Given the description of an element on the screen output the (x, y) to click on. 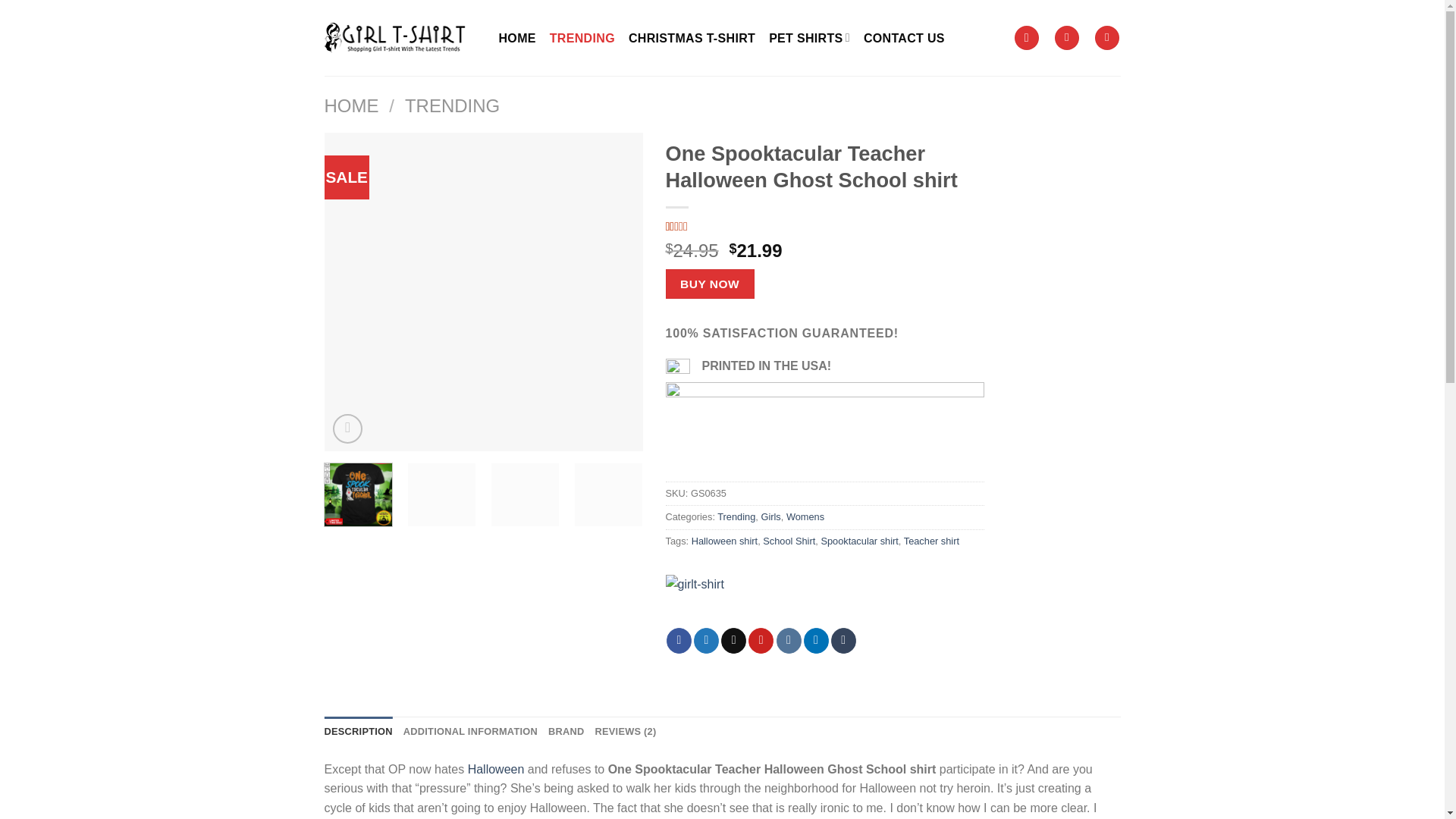
Spooktacular shirt (859, 541)
Girl T-shirt (824, 226)
BUY NOW (714, 601)
One Spooktacular Teacher Halloween Ghost School shirt (709, 283)
Share on Facebook (801, 291)
Halloween shirt (678, 640)
TRENDING (724, 541)
One Spooktacular Teacher Halloween Ghost School shirt (582, 37)
CHRISTMAS T-SHIRT (1119, 291)
